Given the description of an element on the screen output the (x, y) to click on. 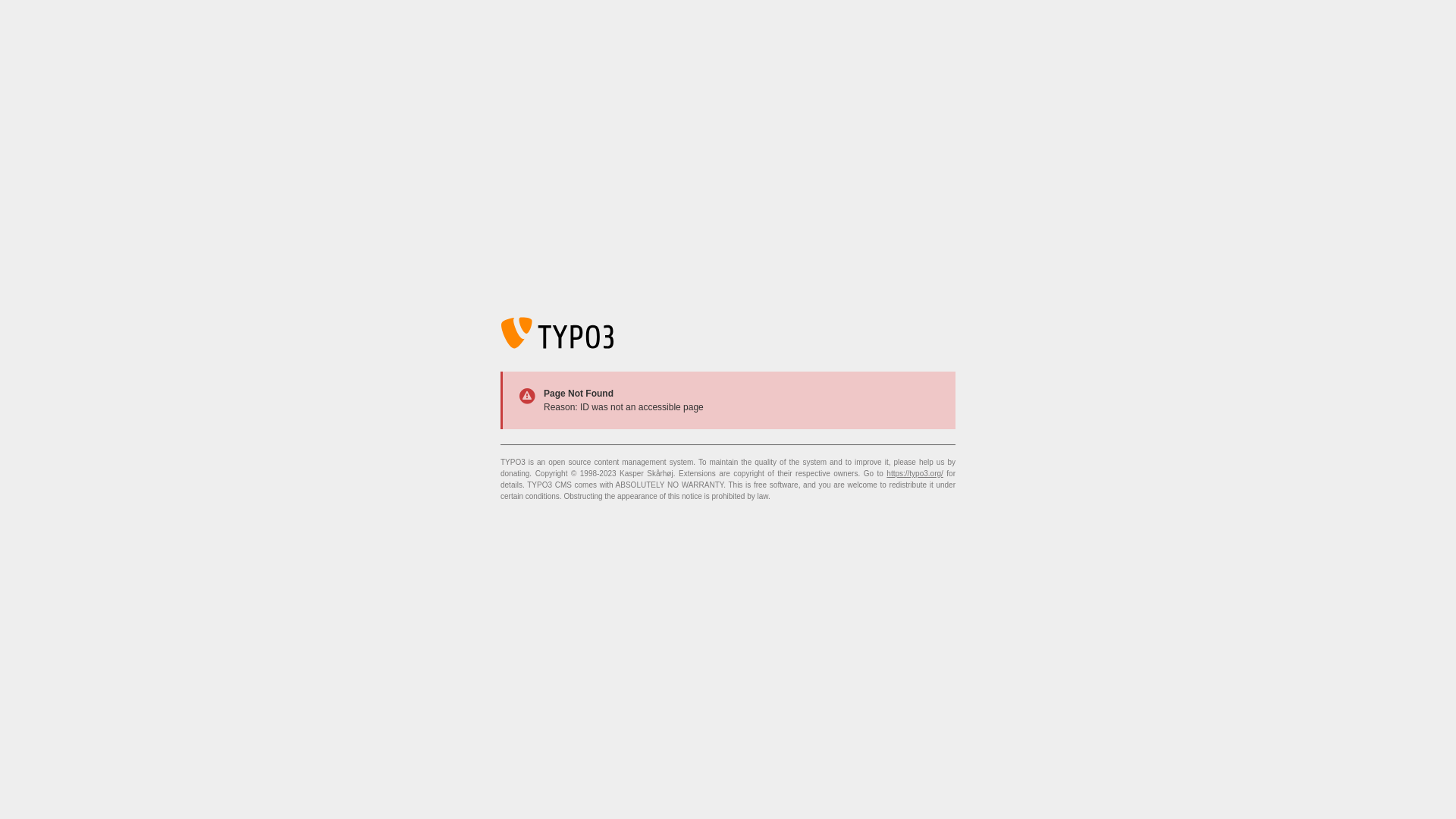
https://typo3.org/ Element type: text (914, 473)
